Given the description of an element on the screen output the (x, y) to click on. 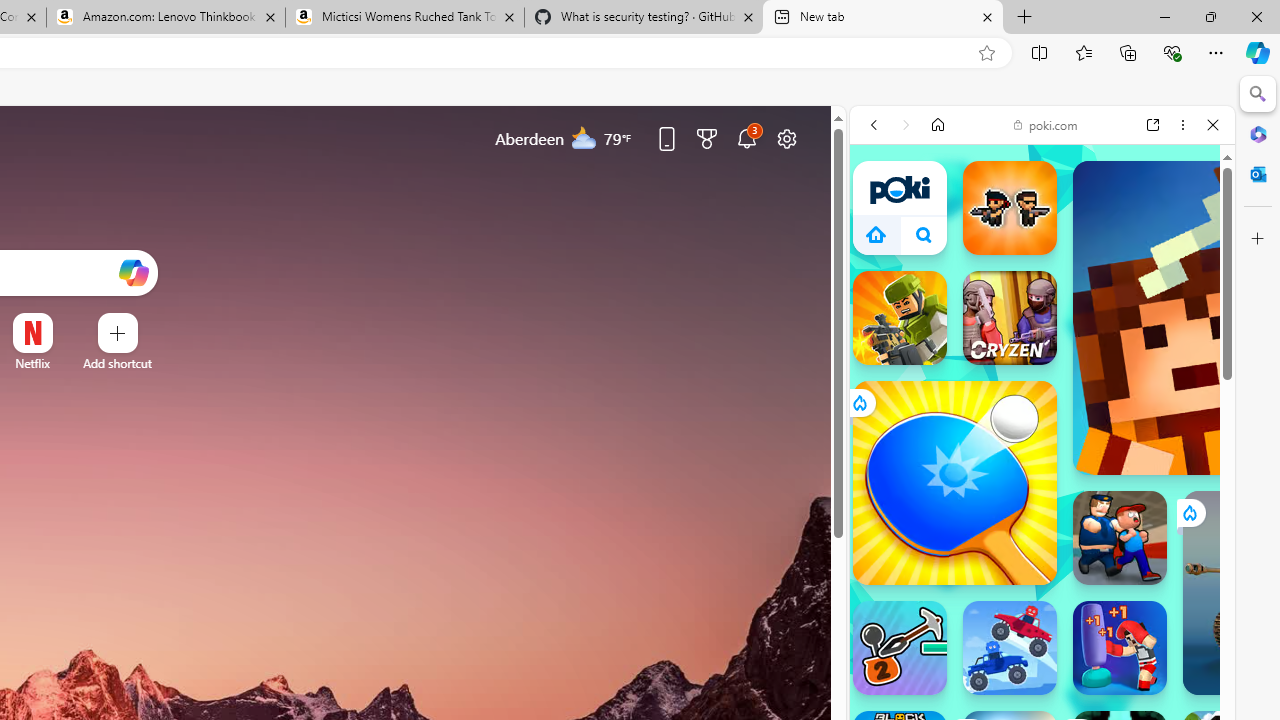
Two Player Games (1042, 601)
Io Games (1042, 651)
Car Games (1042, 503)
Show More Io Games (1164, 652)
Class: aprWdaSScyiJf4Jvmsx9 (875, 234)
